Given the description of an element on the screen output the (x, y) to click on. 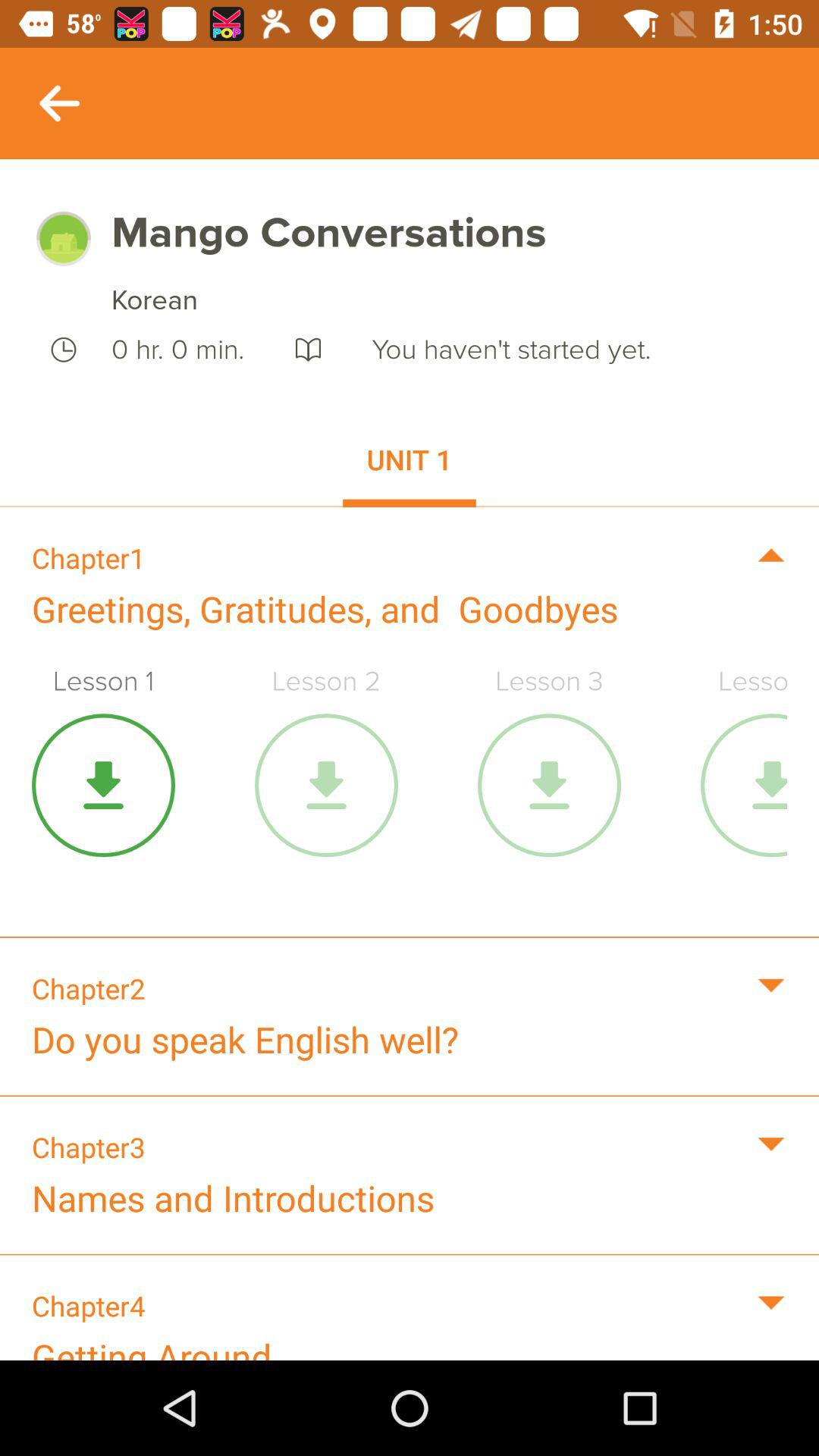
click the first download button (103, 785)
